Given the description of an element on the screen output the (x, y) to click on. 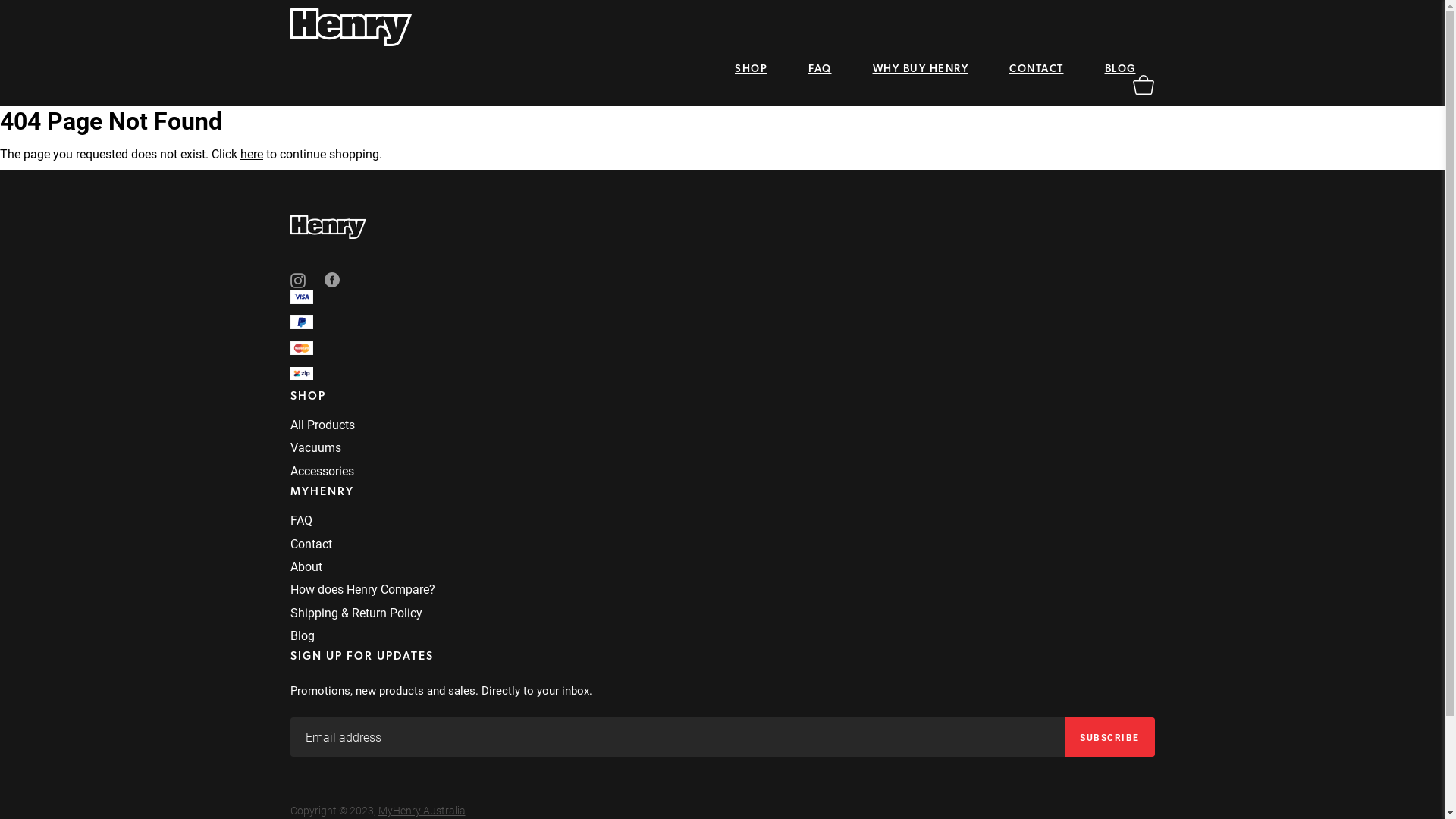
Vacuums Element type: text (314, 447)
WHY BUY HENRY Element type: text (920, 68)
Accessories Element type: text (321, 470)
Vector Smart Object Element type: text (1142, 89)
CONTACT Element type: text (1036, 68)
Shipping & Return Policy Element type: text (355, 612)
here Element type: text (251, 153)
Contact Element type: text (310, 543)
How does Henry Compare? Element type: text (361, 588)
BLOG Element type: text (1119, 68)
SUBSCRIBE Element type: text (1109, 736)
MyHenry Australia Element type: text (420, 810)
FAQ Element type: text (819, 68)
All Products Element type: text (321, 424)
Facebook Element type: text (331, 282)
Blog Element type: text (301, 635)
SHOP Element type: text (750, 68)
Instagram Element type: text (296, 278)
FAQ Element type: text (300, 519)
About Element type: text (305, 566)
